Given the description of an element on the screen output the (x, y) to click on. 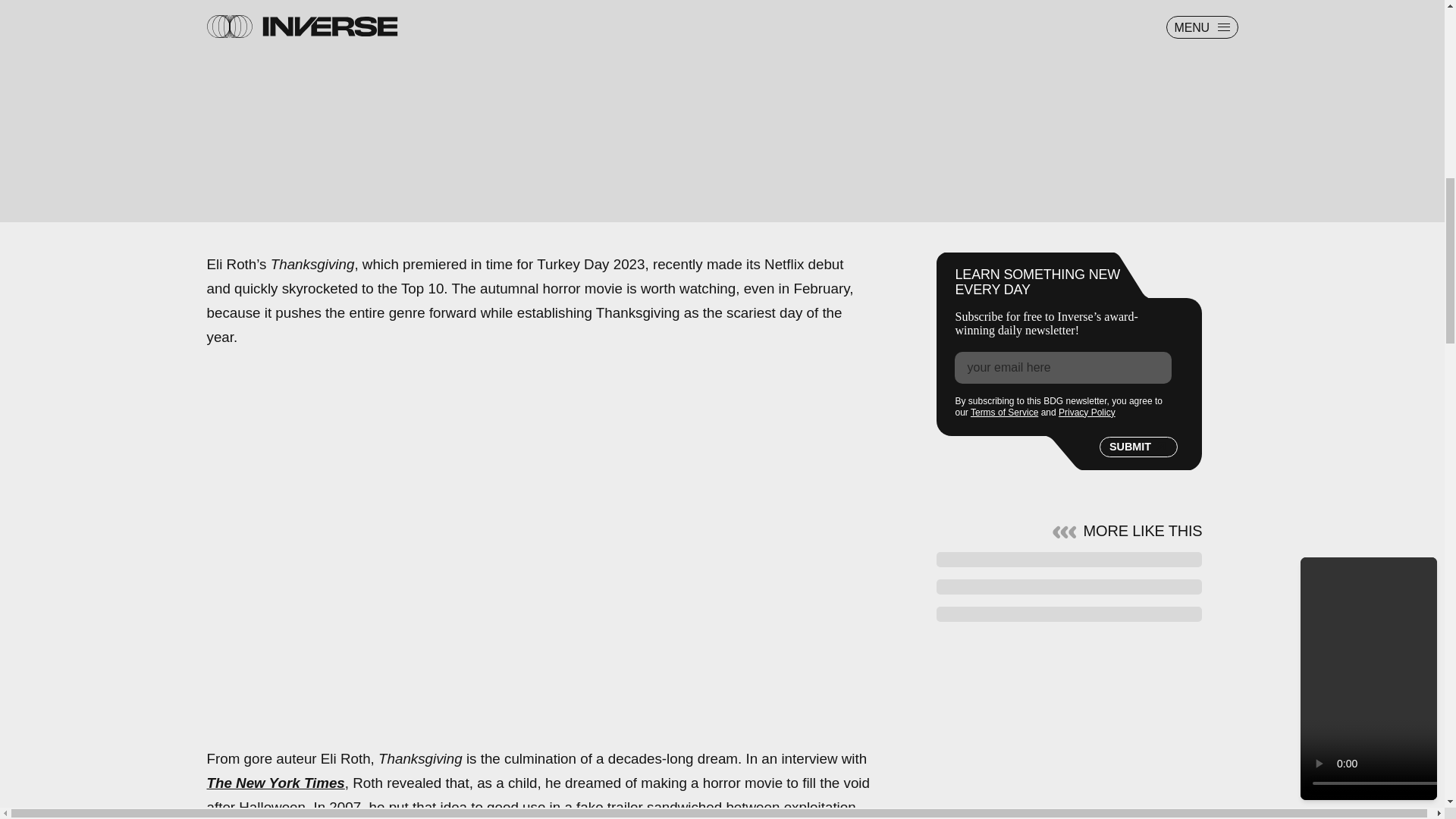
SUBMIT (1138, 446)
Terms of Service (1004, 412)
Privacy Policy (1086, 412)
The New York Times (274, 782)
